Given the description of an element on the screen output the (x, y) to click on. 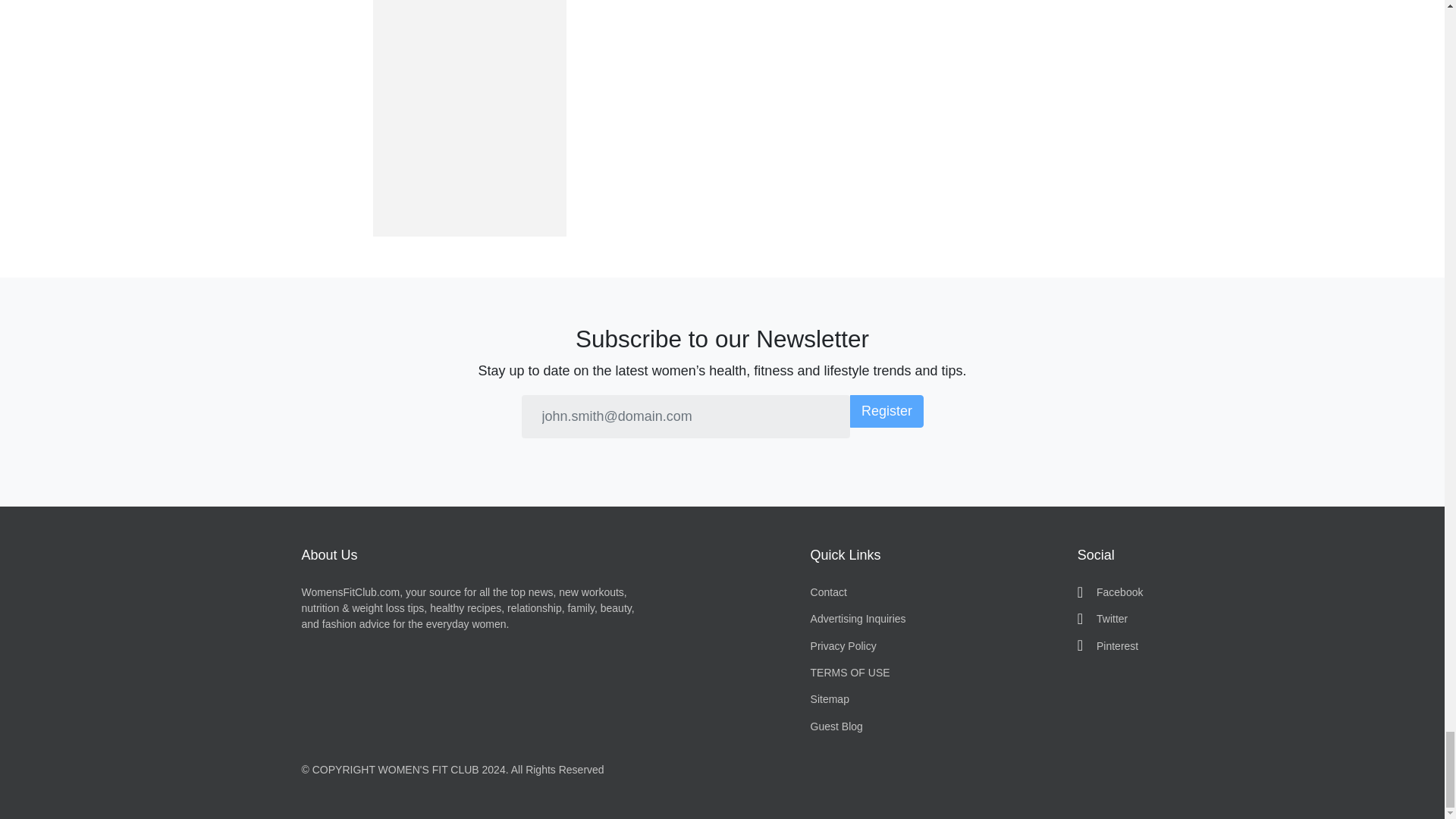
Register (886, 410)
Facebook (1109, 592)
Register (886, 410)
Privacy Policy (857, 646)
Advertising Inquiries (857, 618)
Sitemap (857, 699)
TERMS OF USE (857, 672)
Guest Blog (857, 726)
Contact (857, 592)
Pinterest (1109, 646)
